Given the description of an element on the screen output the (x, y) to click on. 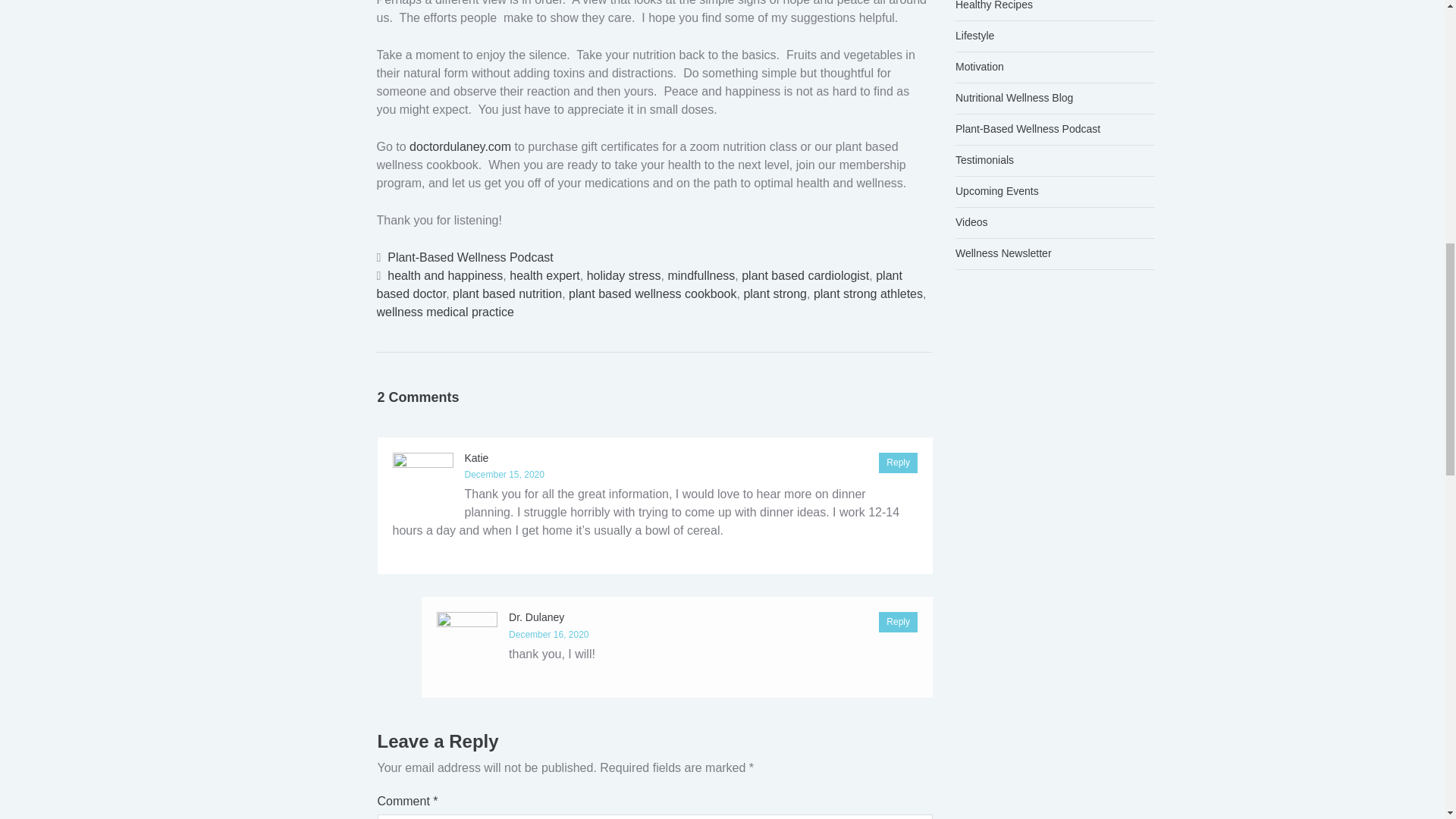
health and happiness (444, 275)
doctordulaney.com (460, 146)
mindfullness (700, 275)
health expert (544, 275)
holiday stress (623, 275)
Plant-Based Wellness Podcast (470, 256)
